Given the description of an element on the screen output the (x, y) to click on. 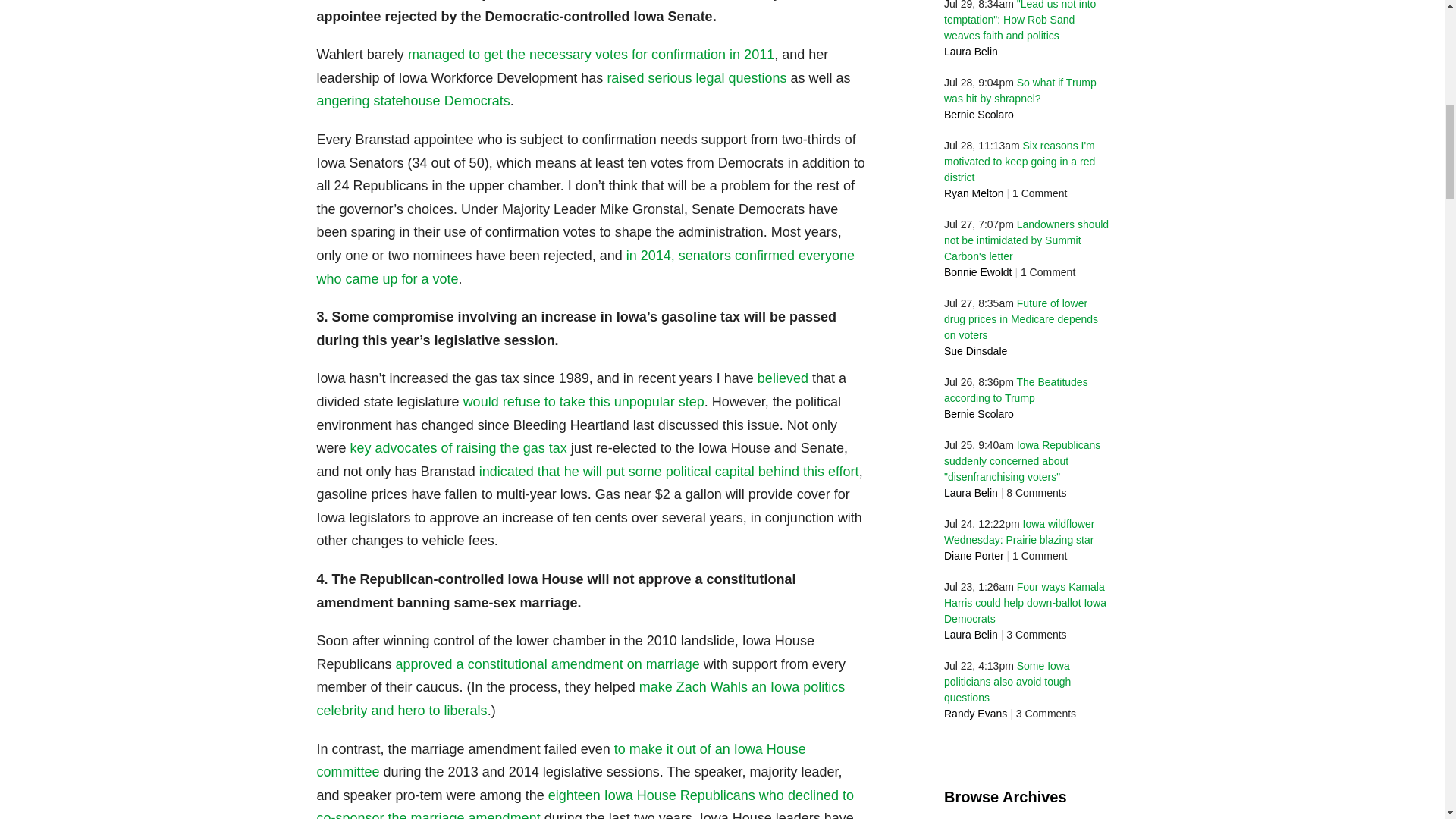
to make it out of an Iowa House committee (561, 761)
would refuse to take this unpopular step (583, 401)
believed (782, 378)
in 2014, senators confirmed everyone who came up for a vote (585, 267)
key advocates of raising the gas tax (458, 447)
approved a constitutional amendment on marriage (548, 663)
angering statehouse Democrats (414, 100)
managed to get the necessary votes for confirmation in 2011 (590, 54)
raised serious legal questions (696, 77)
